Given the description of an element on the screen output the (x, y) to click on. 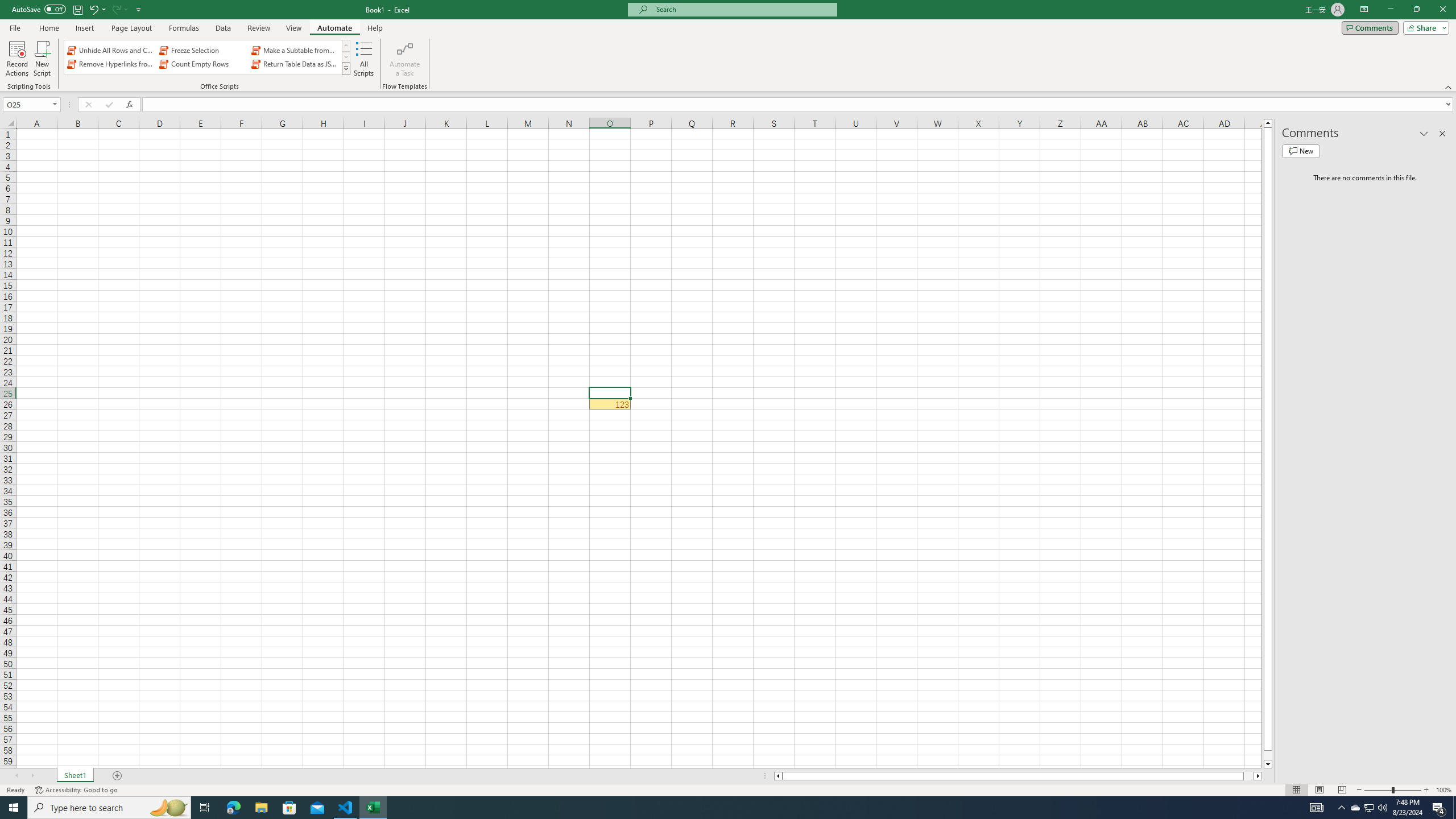
New comment (1300, 151)
Record Actions (17, 58)
Unhide All Rows and Columns (111, 50)
